Given the description of an element on the screen output the (x, y) to click on. 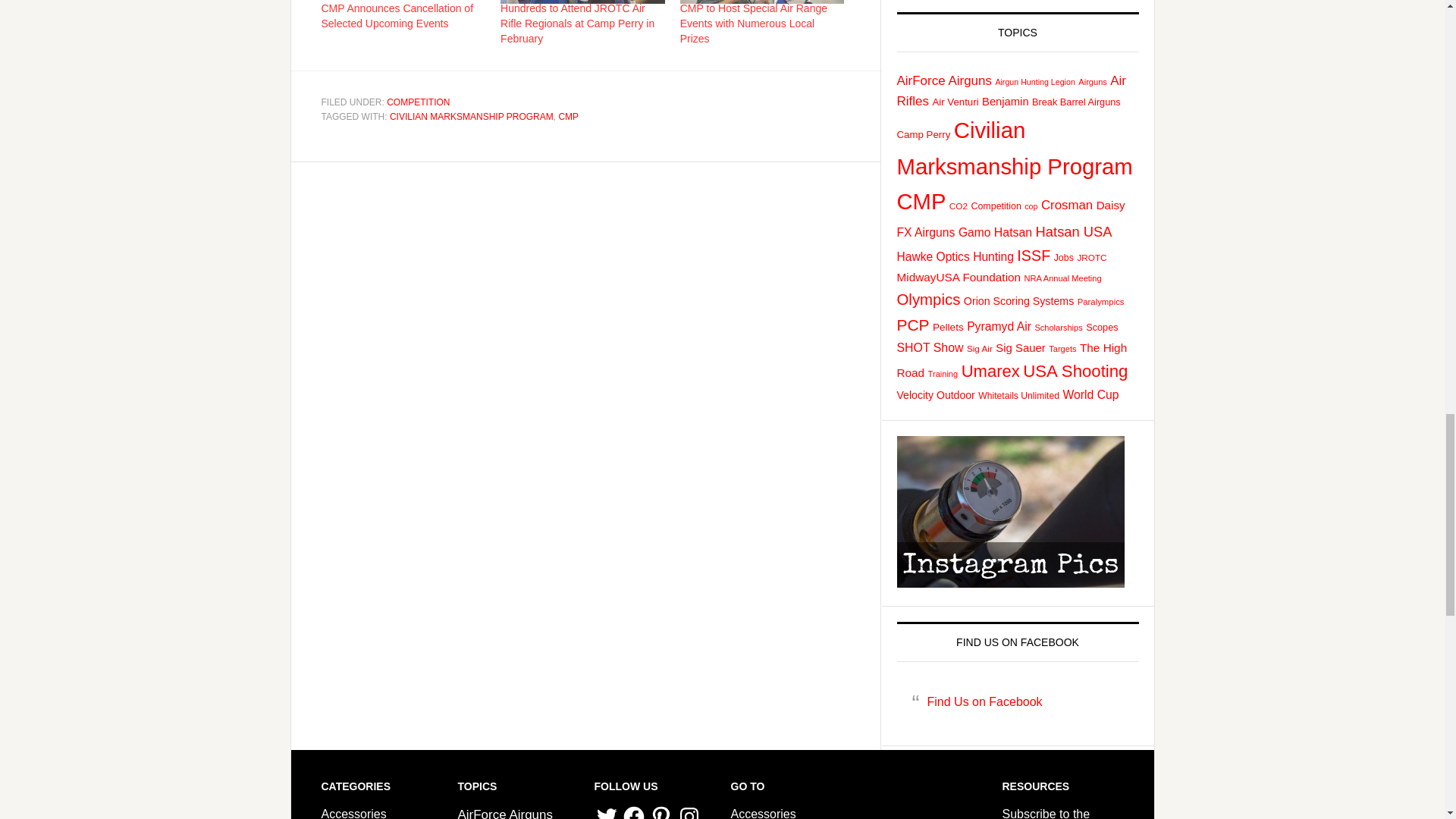
CMP (567, 116)
CMP Announces Cancellation of Selected Upcoming Events (403, 2)
CMP Announces Cancellation of Selected Upcoming Events (397, 15)
CIVILIAN MARKSMANSHIP PROGRAM (471, 116)
CMP Announces Cancellation of Selected Upcoming Events (397, 15)
COMPETITION (418, 102)
